Given the description of an element on the screen output the (x, y) to click on. 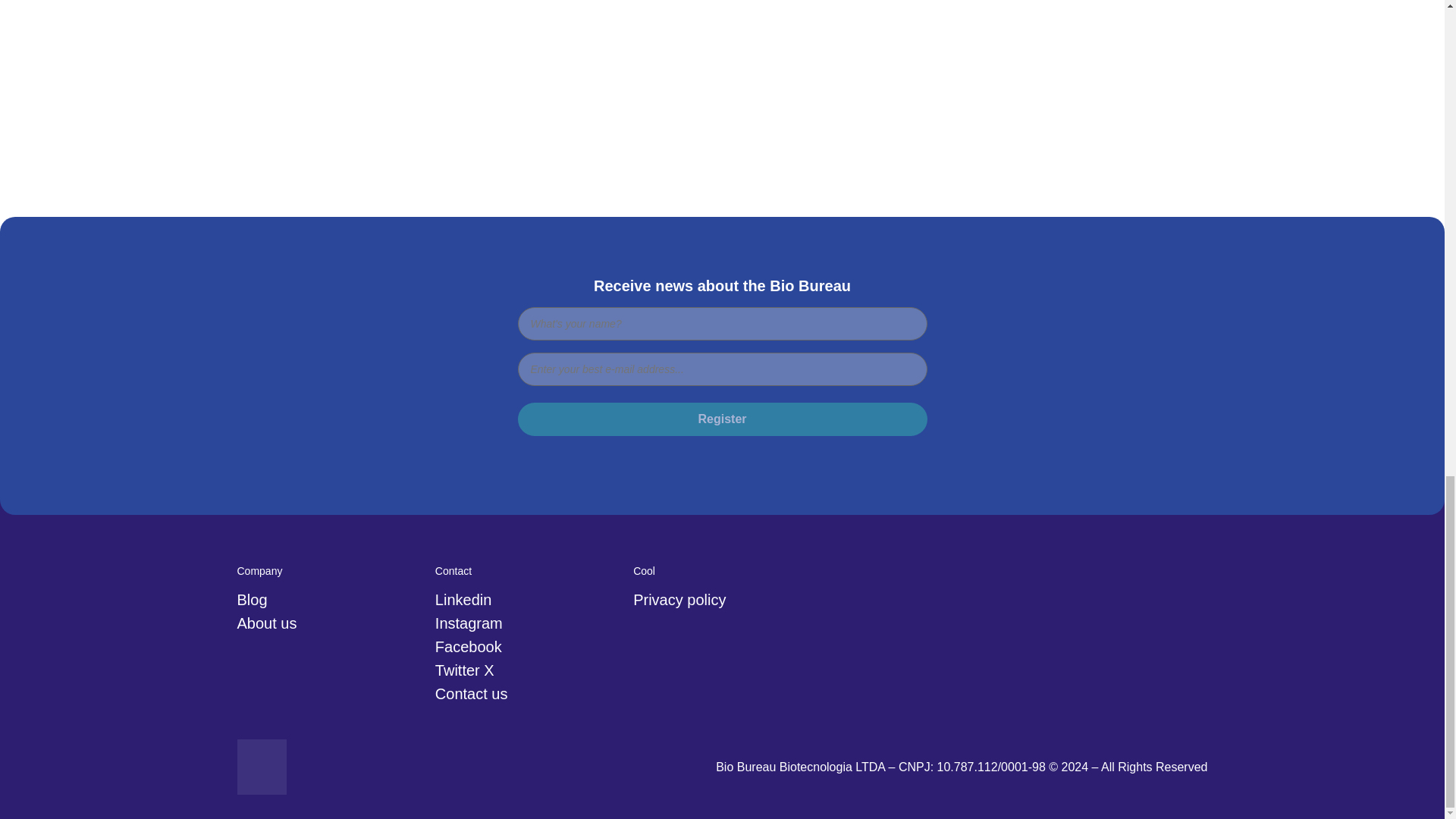
Register (721, 418)
Twitter X (528, 670)
Privacy policy (725, 600)
About us (328, 623)
Blog (328, 600)
Facebook (528, 647)
Contact us (528, 693)
Register (721, 418)
Linkedin (528, 600)
Instagram (528, 623)
